Given the description of an element on the screen output the (x, y) to click on. 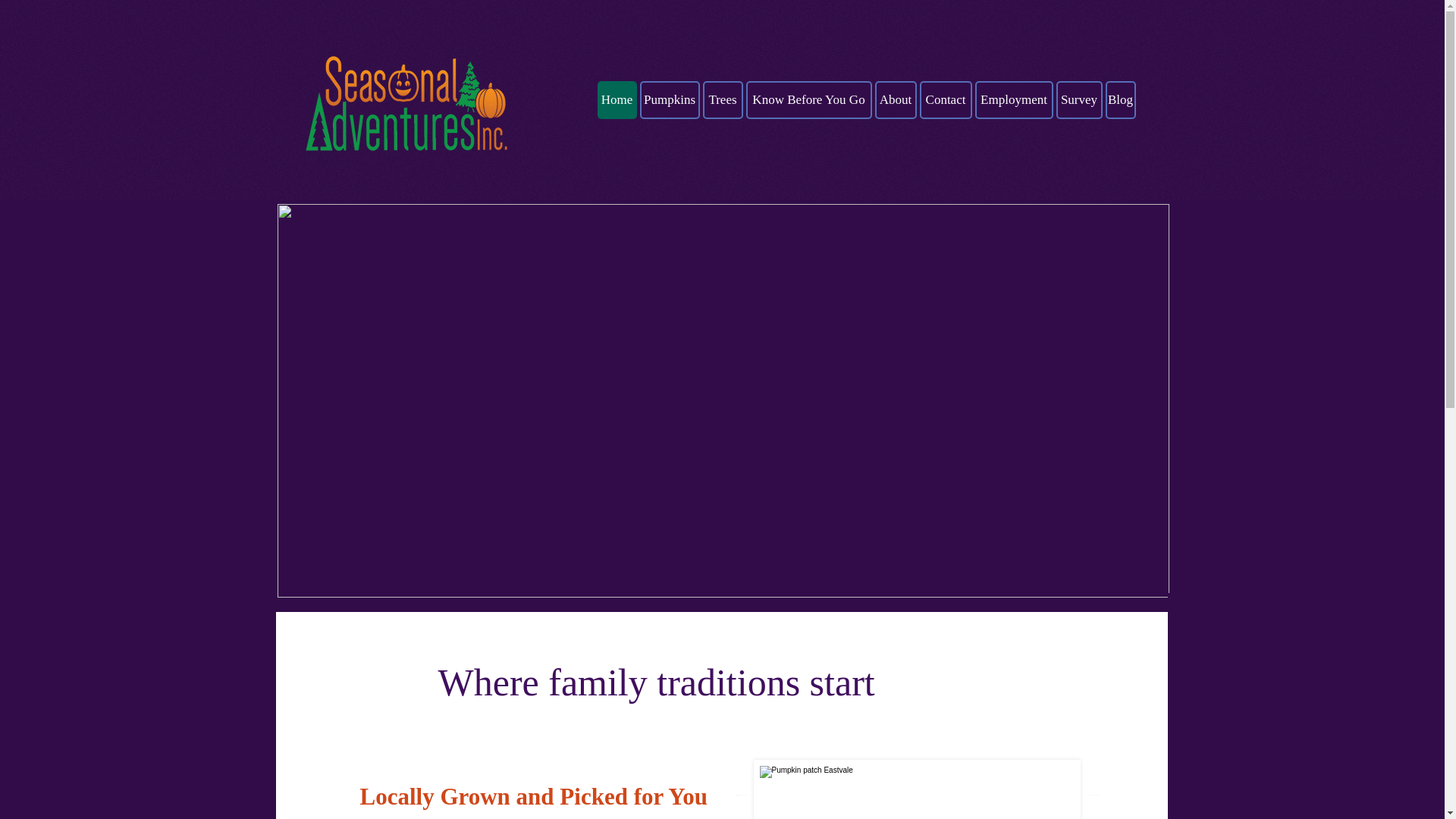
Pumpkins (670, 99)
Survey (1078, 99)
Home (616, 99)
Know Before You Go (808, 99)
About (896, 99)
Trees (721, 99)
Contact (944, 99)
Employment (1013, 99)
